Given the description of an element on the screen output the (x, y) to click on. 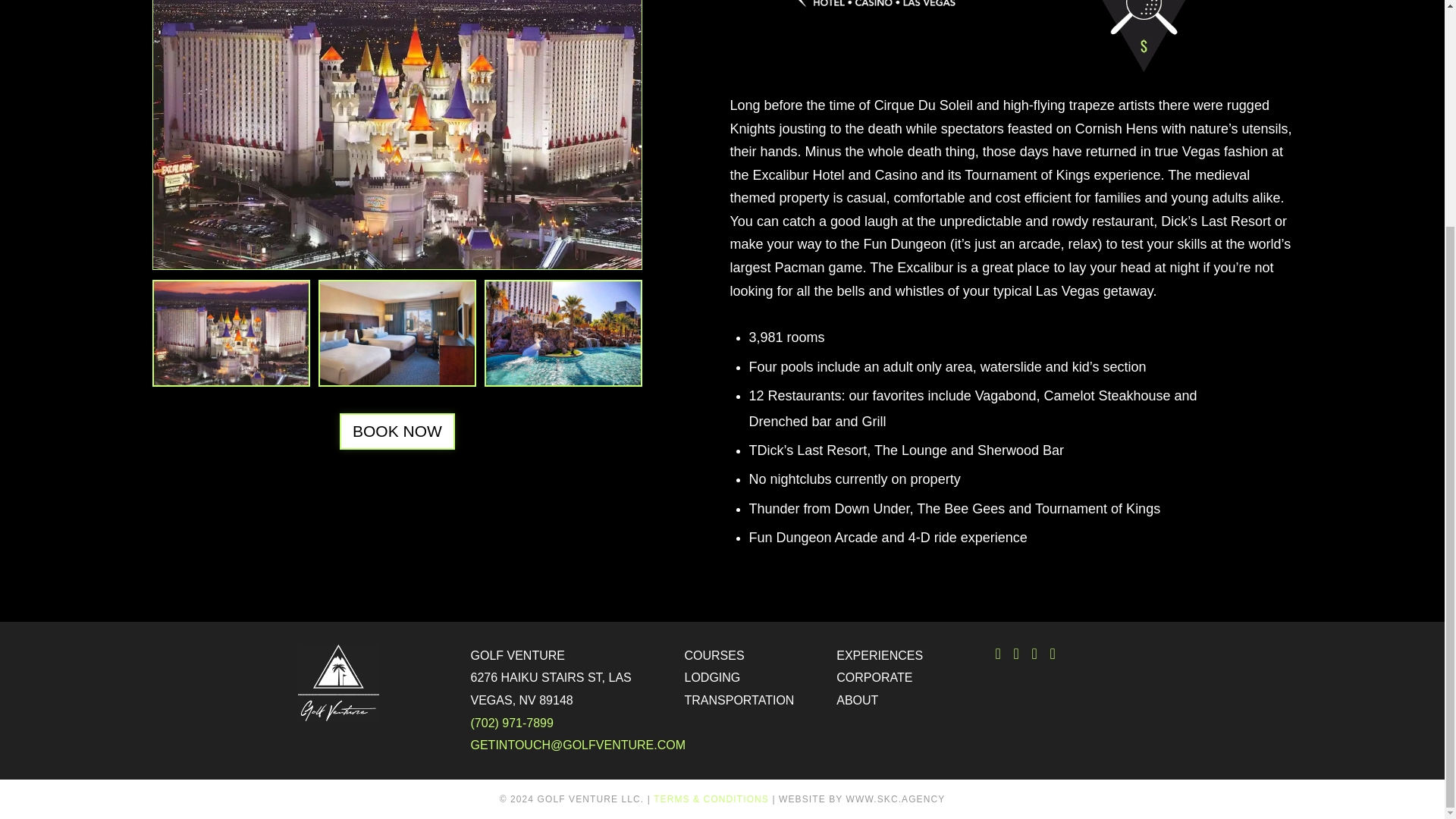
COURSES (752, 655)
TRANSPORTATION (752, 700)
CORPORATE (904, 677)
BOOK NOW (396, 431)
LODGING (752, 677)
EXPERIENCES (904, 655)
ABOUT (904, 700)
